Given the description of an element on the screen output the (x, y) to click on. 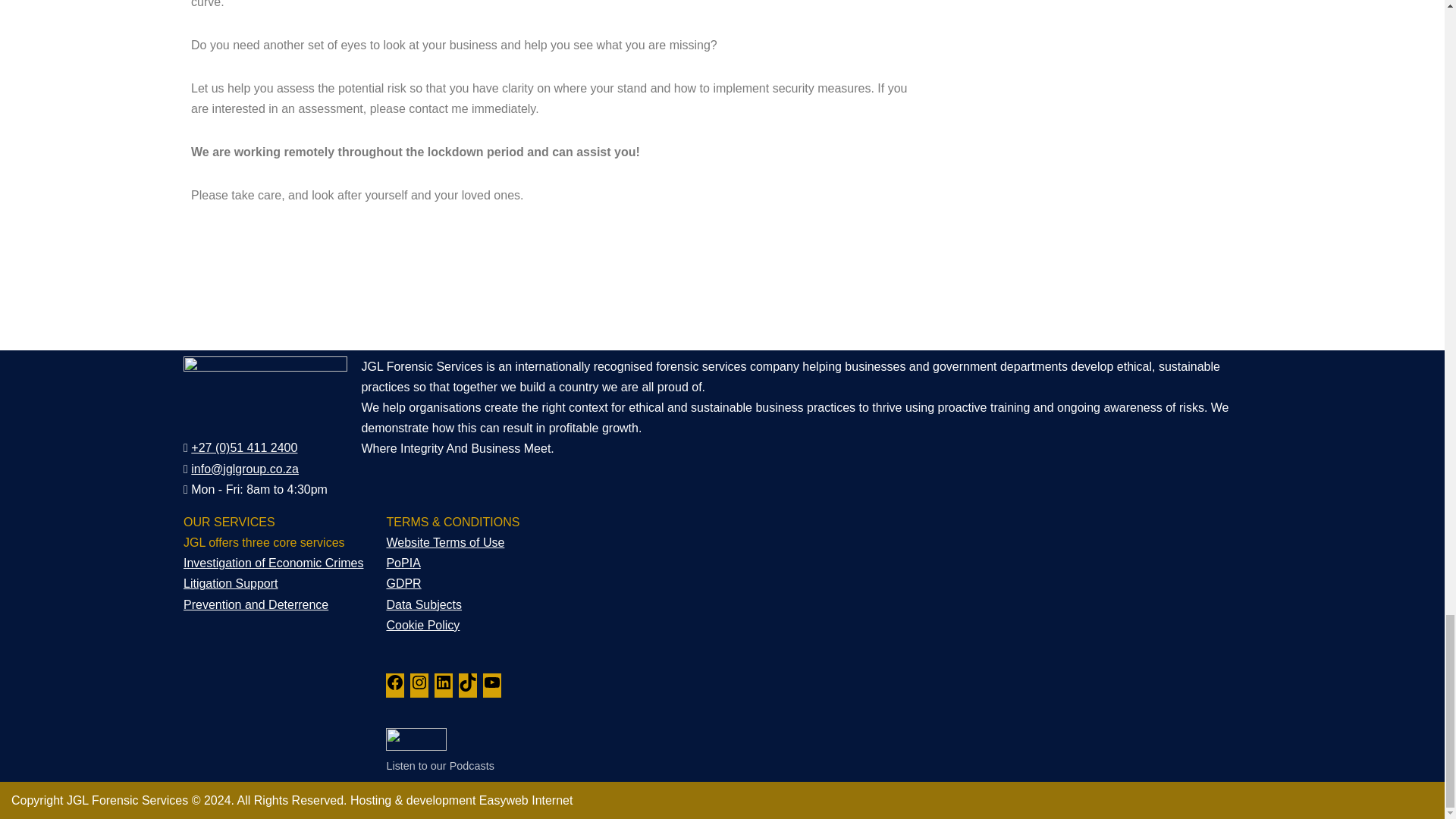
Prevention and Deterrence (256, 604)
PoPIA (402, 562)
Cookie Policy (422, 625)
Litigation Support (230, 583)
Website Terms of Use (444, 542)
GDPR (402, 583)
Investigation of Economic Crimes (272, 562)
Data Subjects (423, 604)
